Given the description of an element on the screen output the (x, y) to click on. 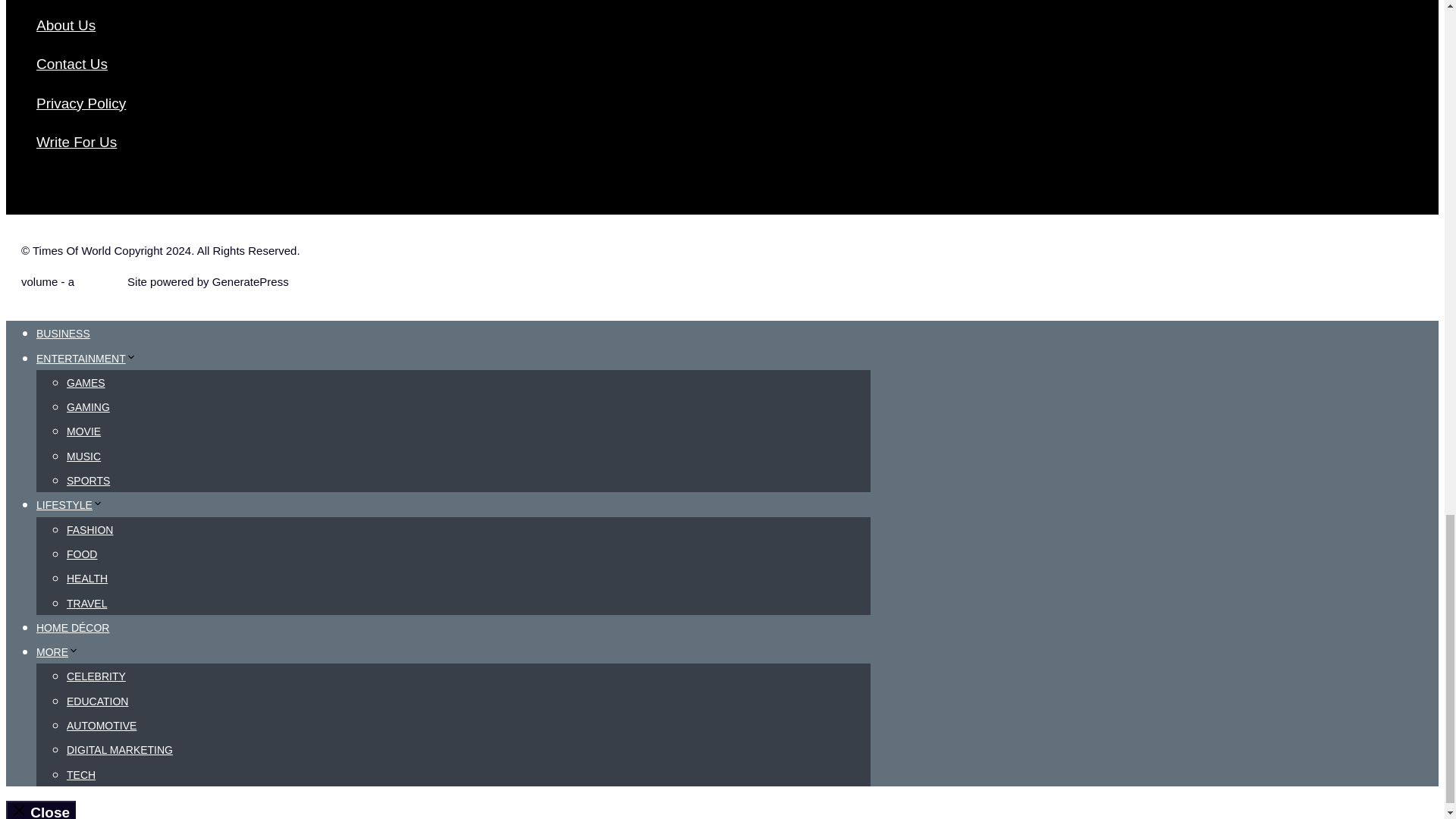
About Us (66, 25)
Scroll back to top (1406, 107)
Contact Us (71, 64)
Privacy Policy (80, 103)
